Given the description of an element on the screen output the (x, y) to click on. 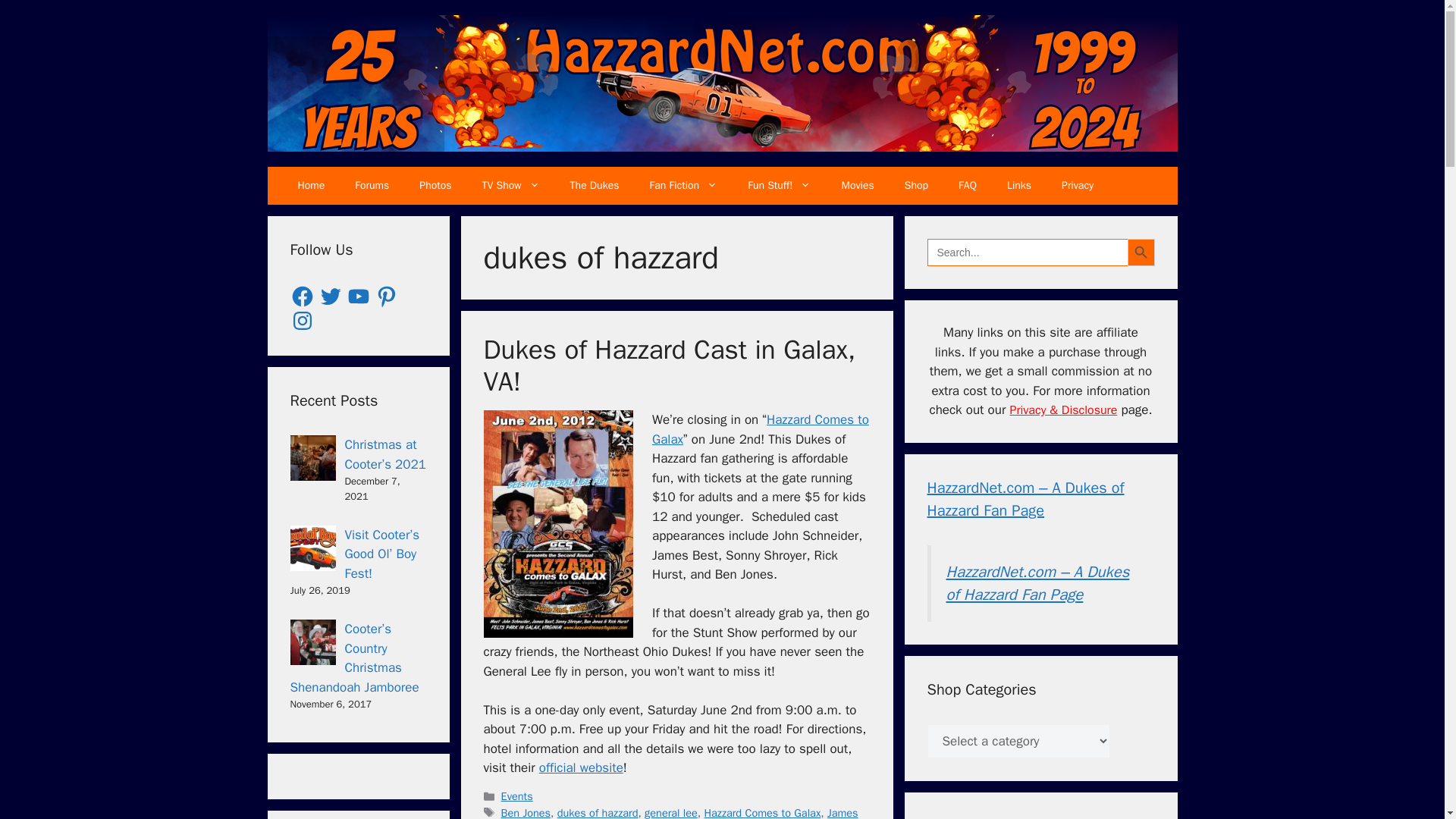
Forums (371, 185)
Photos (434, 185)
Home (310, 185)
TV Show (510, 185)
